Given the description of an element on the screen output the (x, y) to click on. 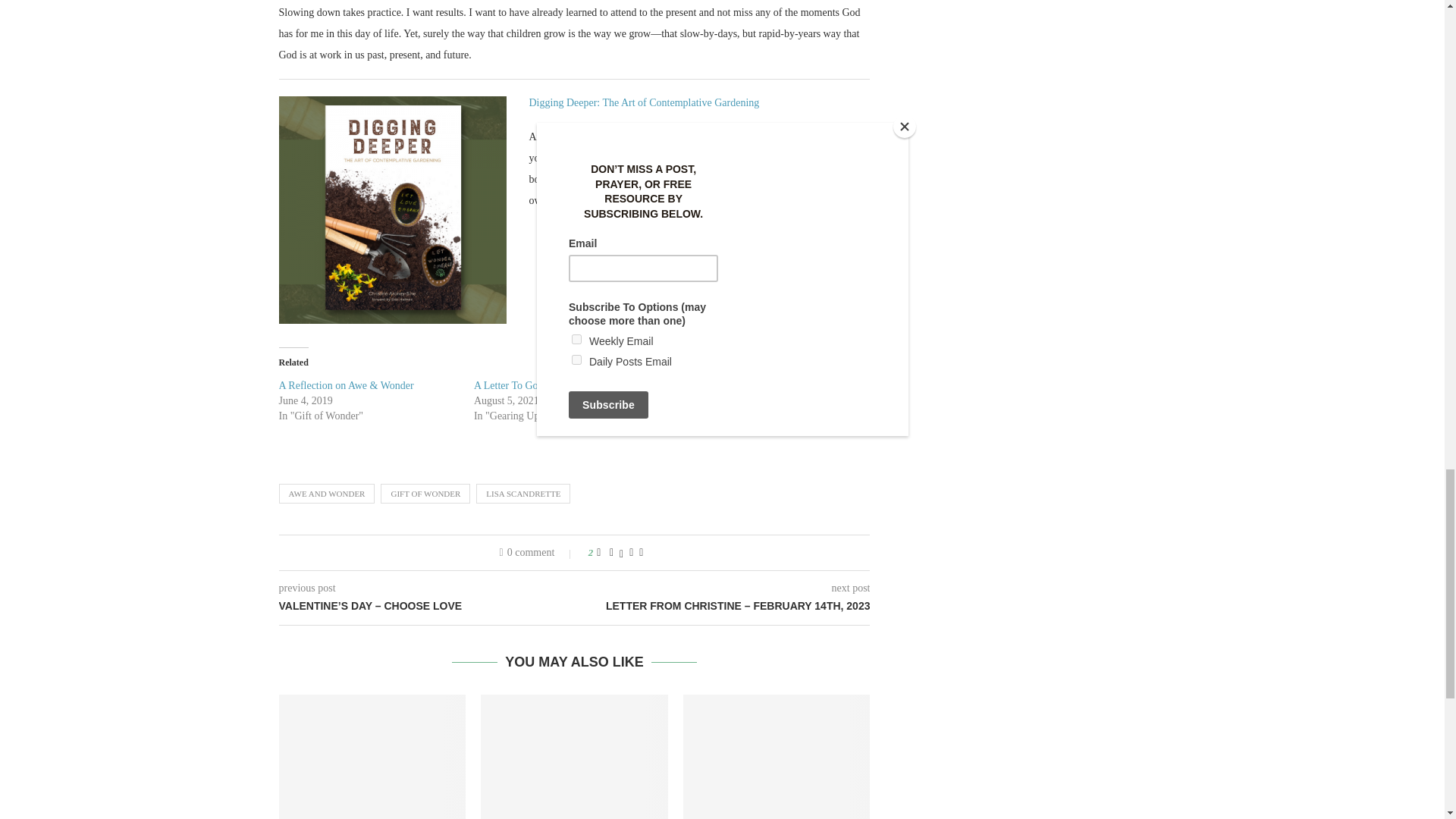
A Letter To God from the Redwoods (552, 385)
Godspace Light Newsletter (372, 756)
FreerangeFriday: A Gift from the Beginning (574, 756)
The Gift of Wonder Revisited (776, 756)
IMG 1347 (392, 209)
